Given the description of an element on the screen output the (x, y) to click on. 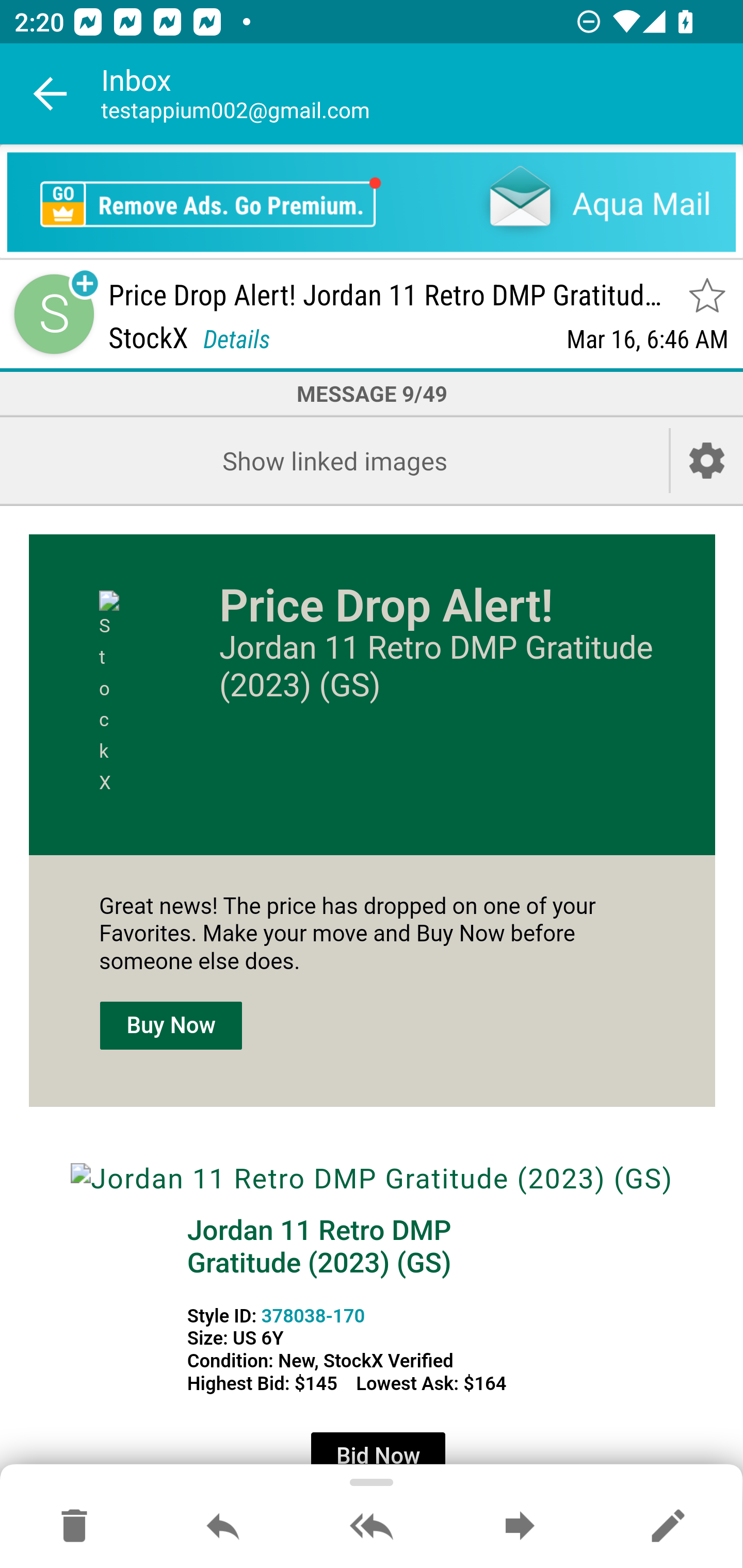
Navigate up (50, 93)
Inbox testappium002@gmail.com (422, 93)
Sender contact button (53, 314)
Show linked images (334, 460)
Account setup (706, 460)
StockX (130, 694)
Buy Now (170, 1025)
Jordan 11 Retro DMP Gratitude (2023) (GS) (371, 1178)
Jordan 11 Retro DMP Gratitude (2023) (GS) (319, 1246)
378038-170 (313, 1315)
Bid Now (378, 1455)
Move to Deleted (74, 1527)
Reply (222, 1527)
Reply all (371, 1527)
Forward (519, 1527)
Reply as new (667, 1527)
